Given the description of an element on the screen output the (x, y) to click on. 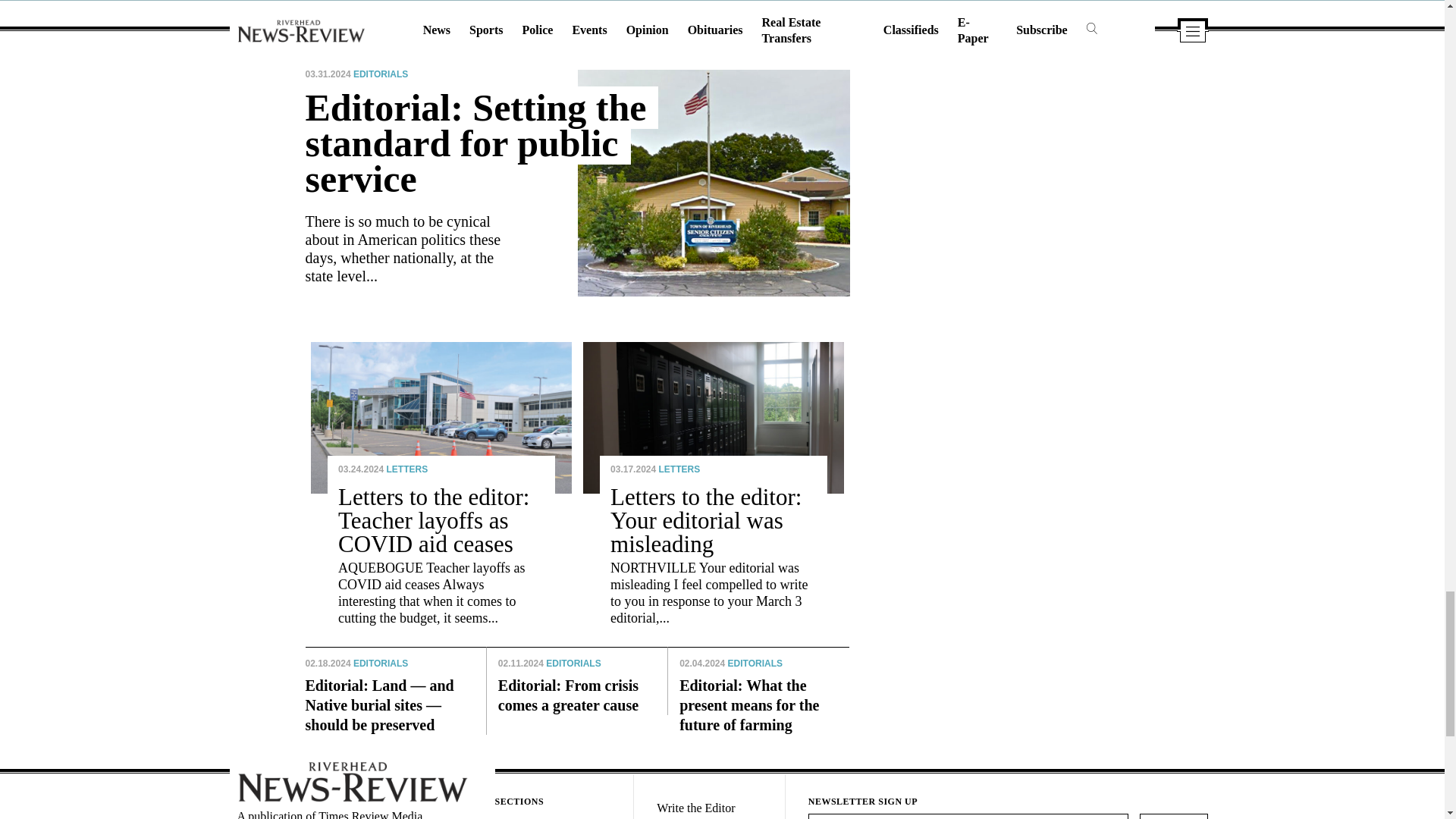
Submit (1173, 816)
3rd party ad content (1005, 156)
